Given the description of an element on the screen output the (x, y) to click on. 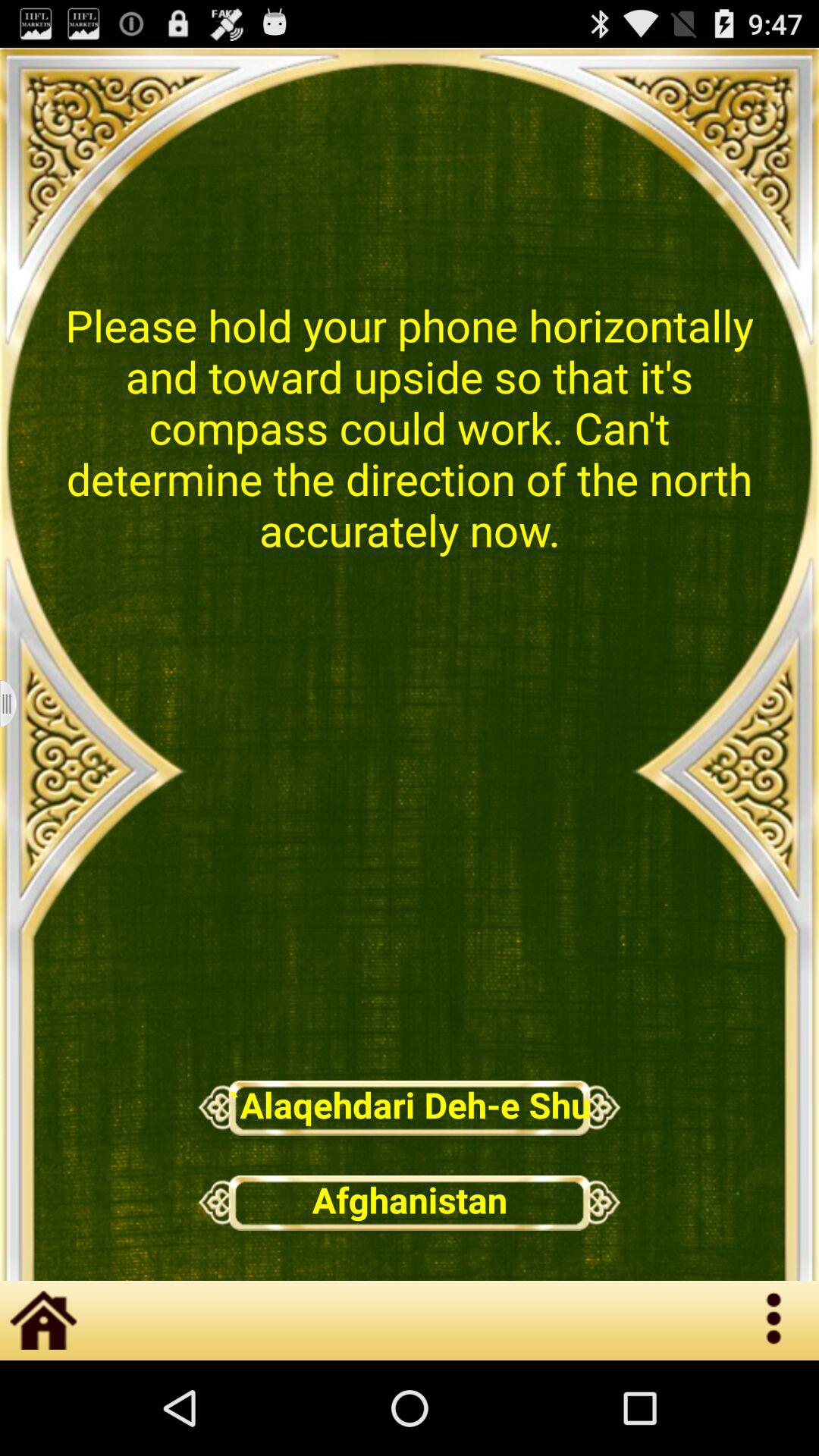
menu page (18, 703)
